Given the description of an element on the screen output the (x, y) to click on. 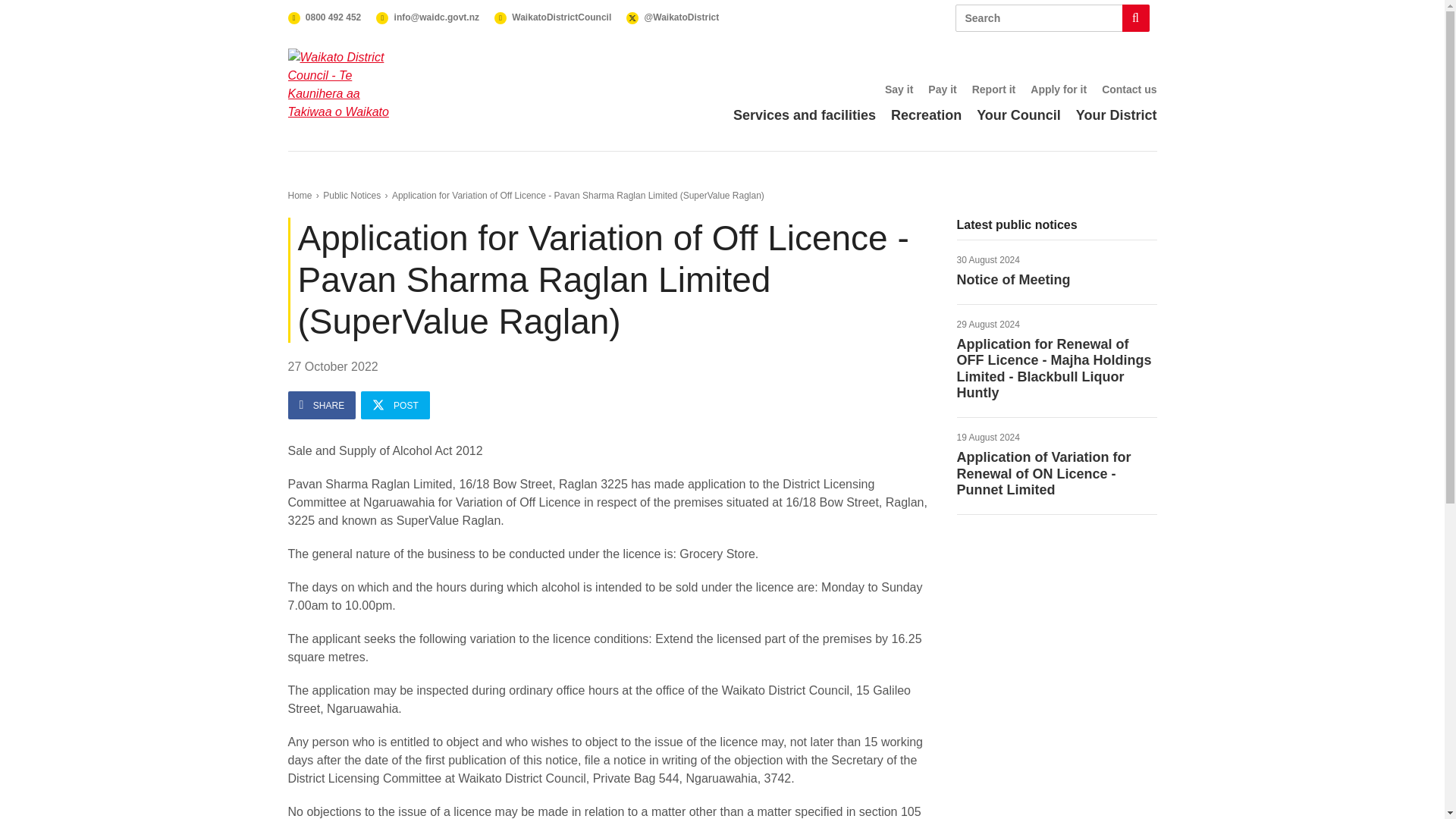
Contact us (1129, 89)
Services and facilities (804, 114)
Public Notices (1056, 272)
POST (351, 195)
Say it (395, 405)
Search input (898, 89)
0800 492 452 (1052, 17)
Search (324, 17)
